Given the description of an element on the screen output the (x, y) to click on. 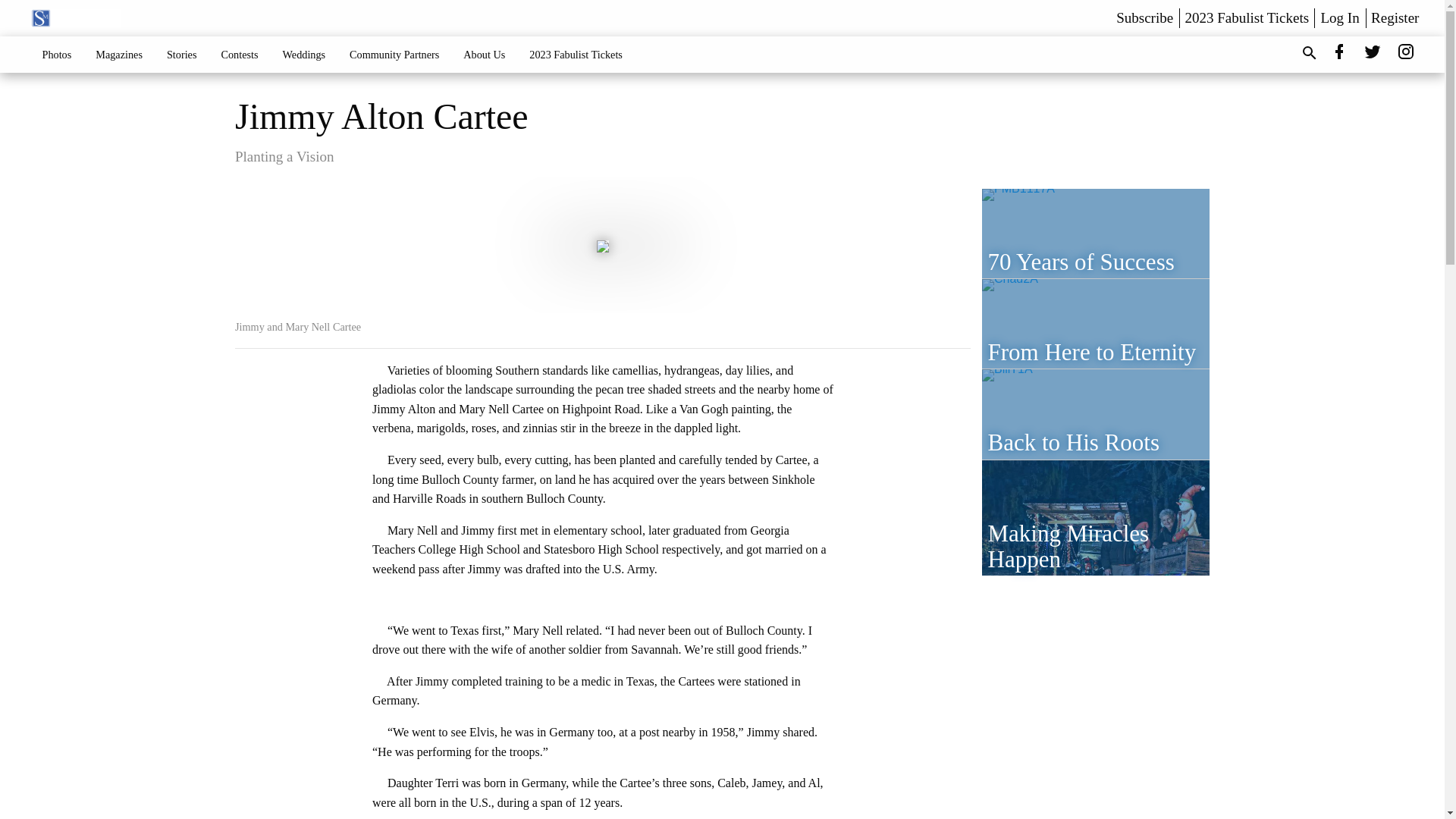
Log In (1339, 17)
Contests (238, 54)
2023 Fabulist Tickets (1246, 17)
About Us (483, 54)
Register (1394, 17)
Stories (181, 54)
Community Partners (394, 54)
Photos (57, 54)
Magazines (118, 54)
Subscribe (1144, 17)
Weddings (303, 54)
2023 Fabulist Tickets (575, 54)
